Given the description of an element on the screen output the (x, y) to click on. 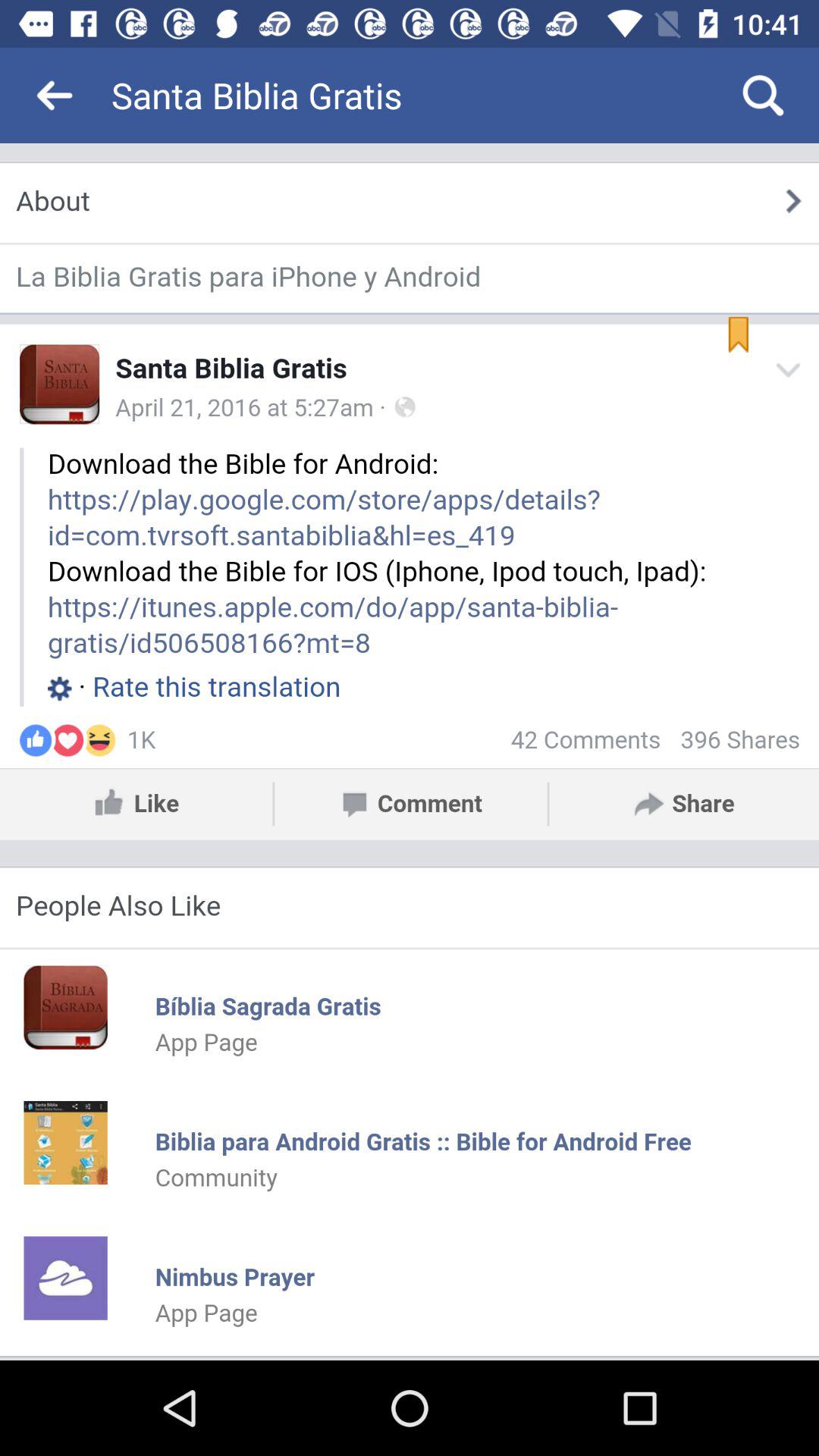
turn on item to the left of the santa biblia gratis (55, 95)
